Given the description of an element on the screen output the (x, y) to click on. 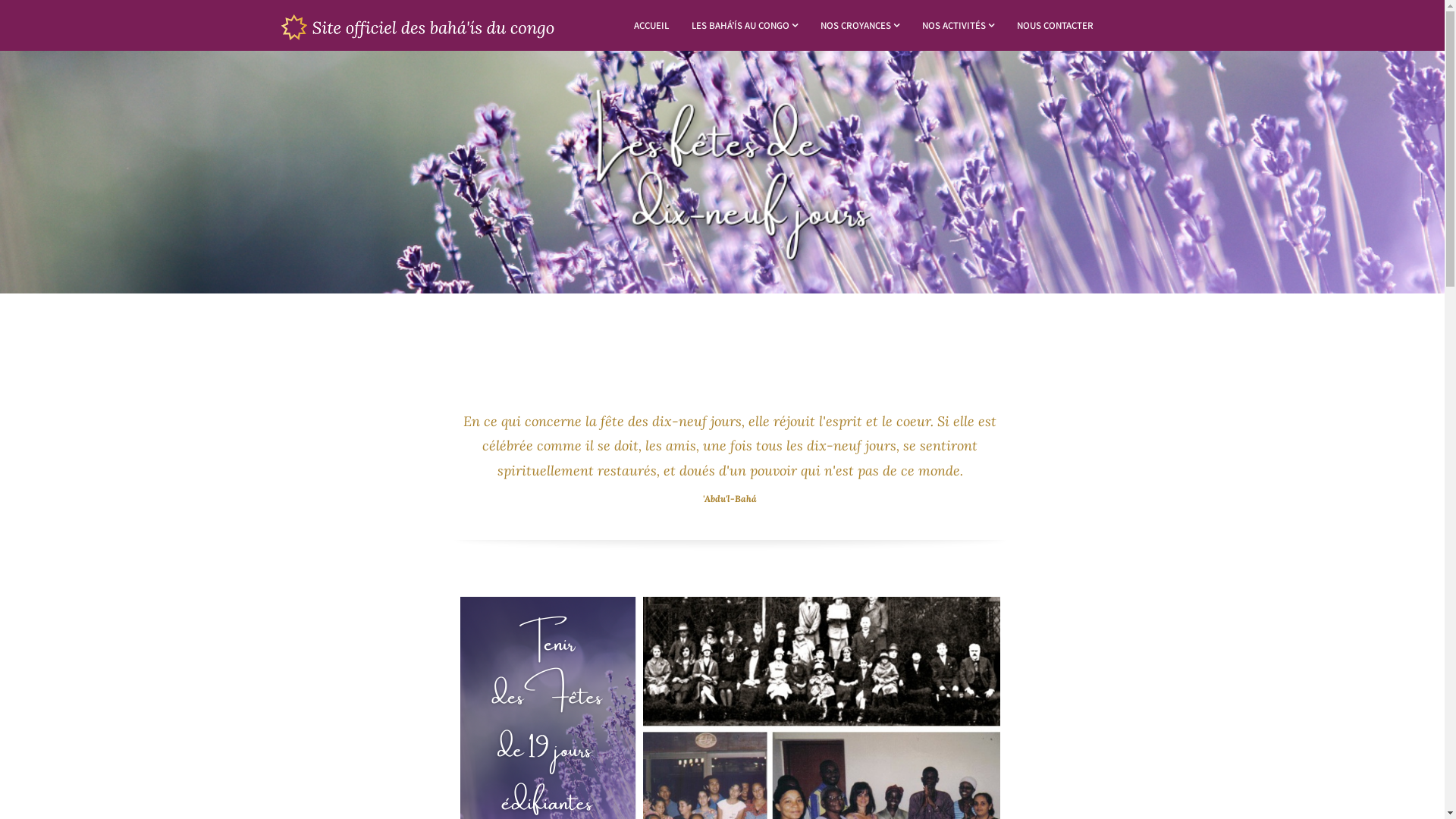
NOUS CONTACTER Element type: text (1054, 25)
NOS CROYANCES Element type: text (859, 25)
ACCUEIL Element type: text (651, 25)
